Given the description of an element on the screen output the (x, y) to click on. 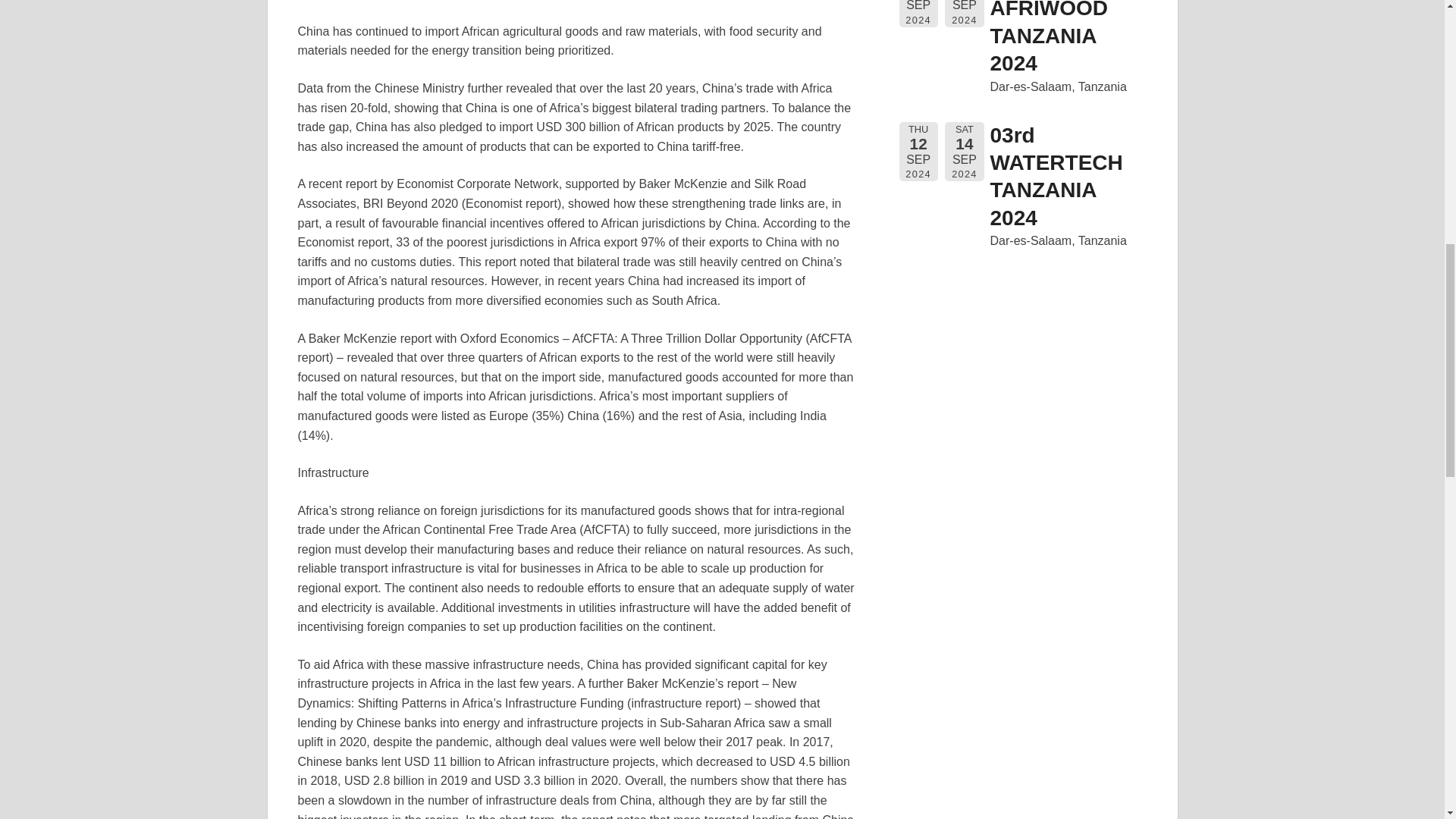
08th AFRIWOOD TANZANIA 2024 (1049, 37)
03rd WATERTECH TANZANIA 2024 (1056, 176)
